Given the description of an element on the screen output the (x, y) to click on. 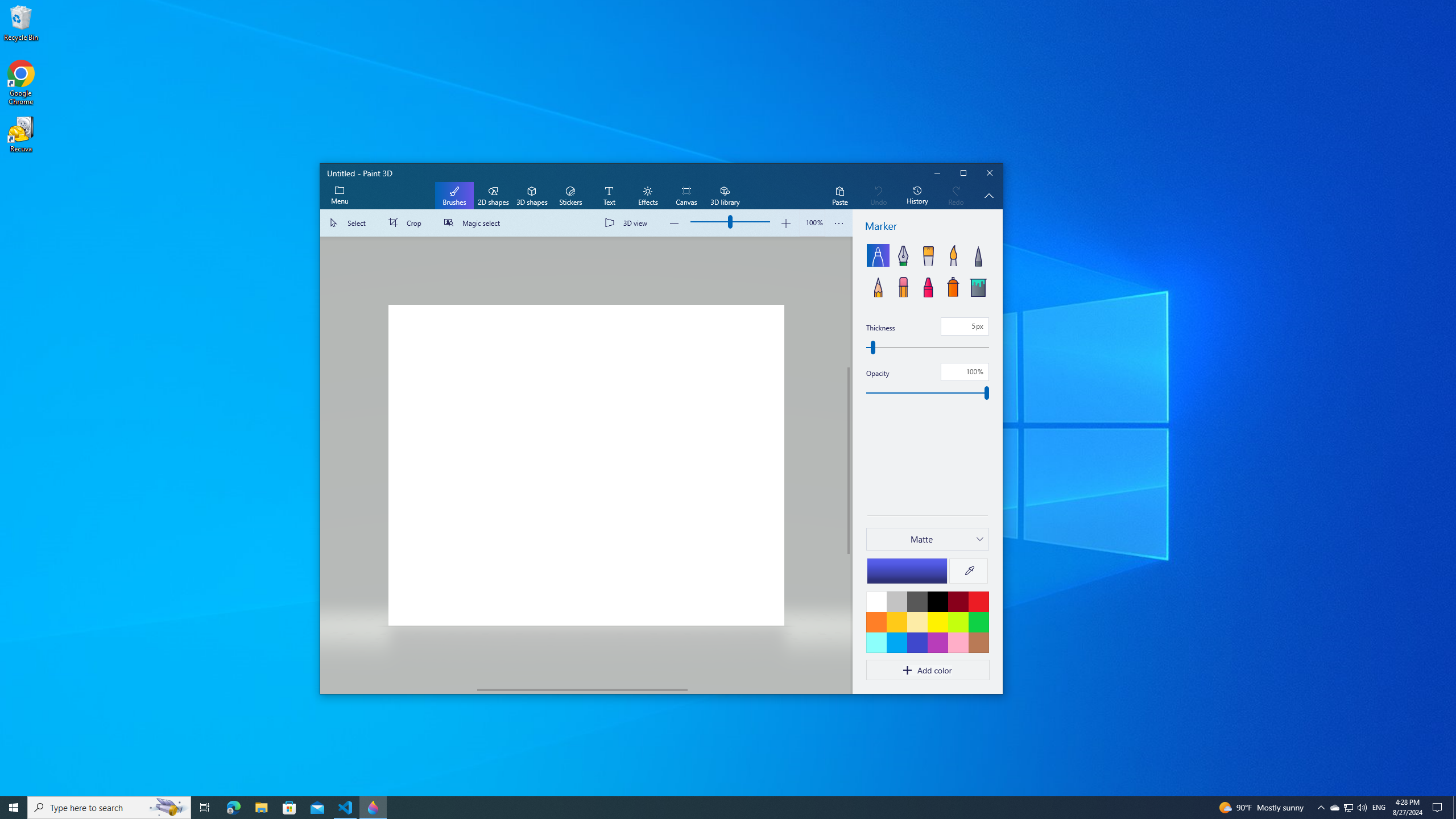
Lime (957, 621)
Undo (878, 195)
Indigo (917, 642)
3D library (725, 195)
Magic select (474, 222)
Pixel pen (978, 255)
Paste (840, 195)
Fill (978, 285)
2D shapes (492, 195)
Crop (407, 222)
